Given the description of an element on the screen output the (x, y) to click on. 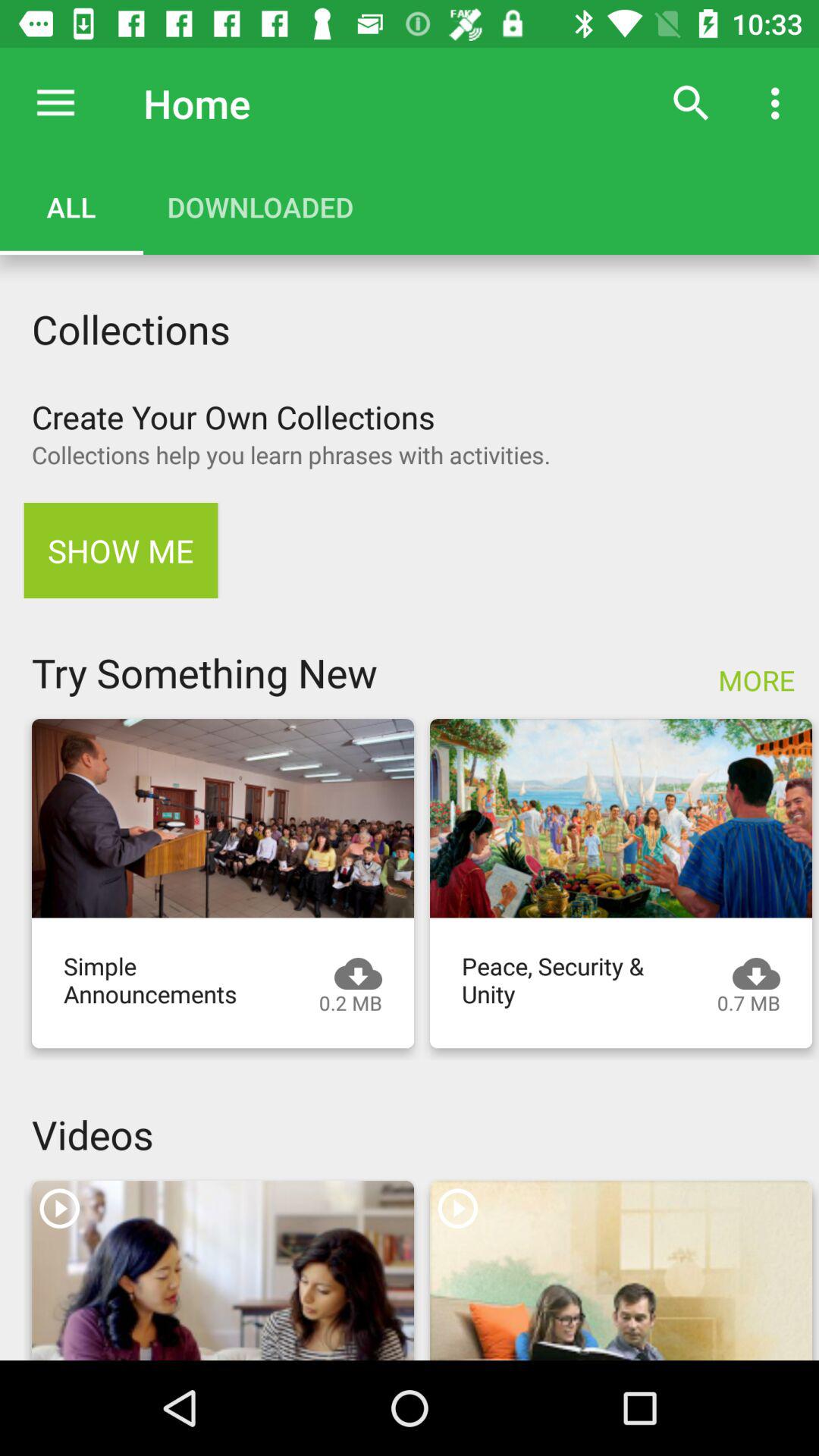
play video (222, 1270)
